Given the description of an element on the screen output the (x, y) to click on. 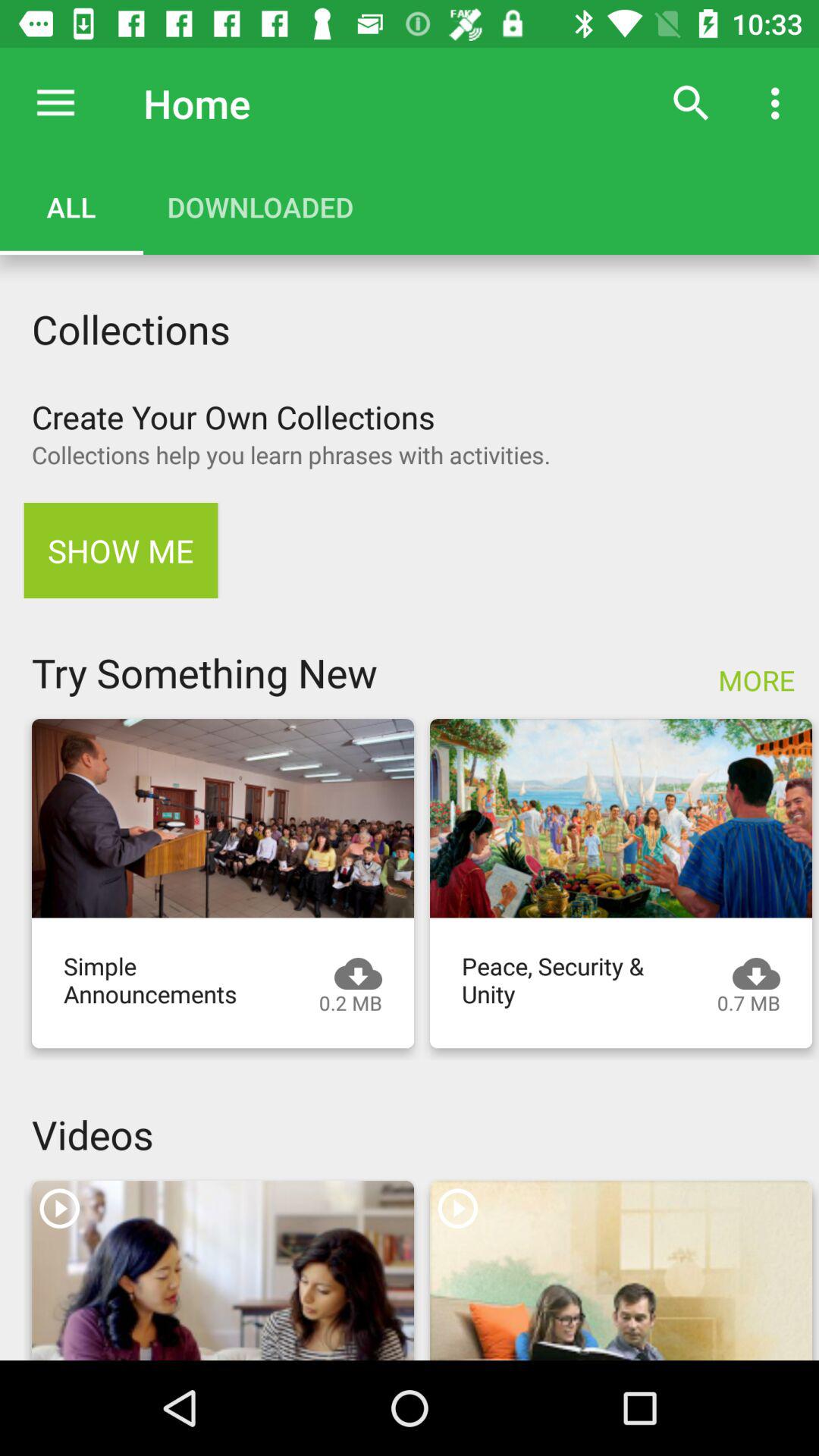
play video (222, 1270)
